Given the description of an element on the screen output the (x, y) to click on. 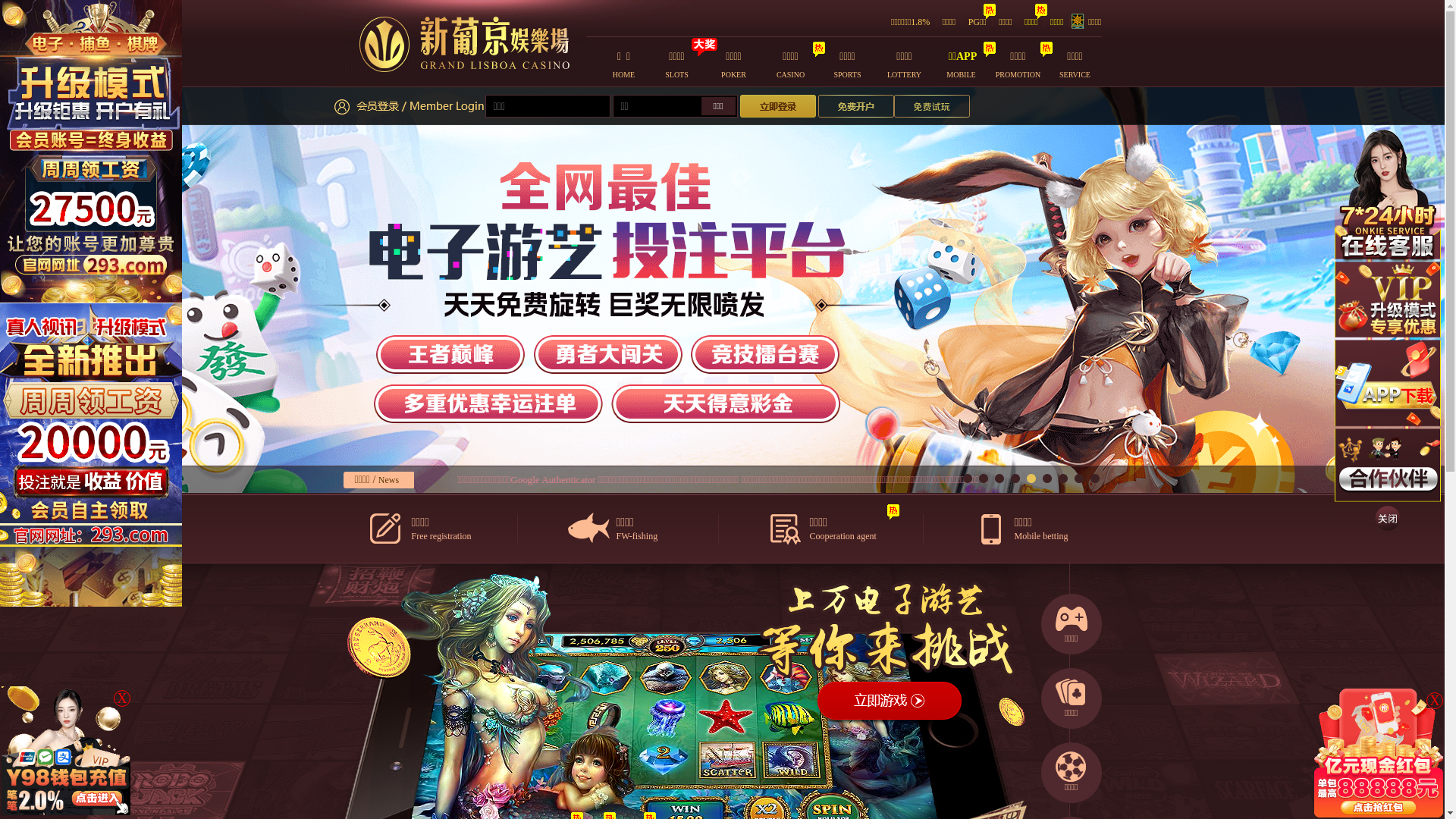
X Element type: text (1434, 700)
X Element type: text (121, 698)
